Given the description of an element on the screen output the (x, y) to click on. 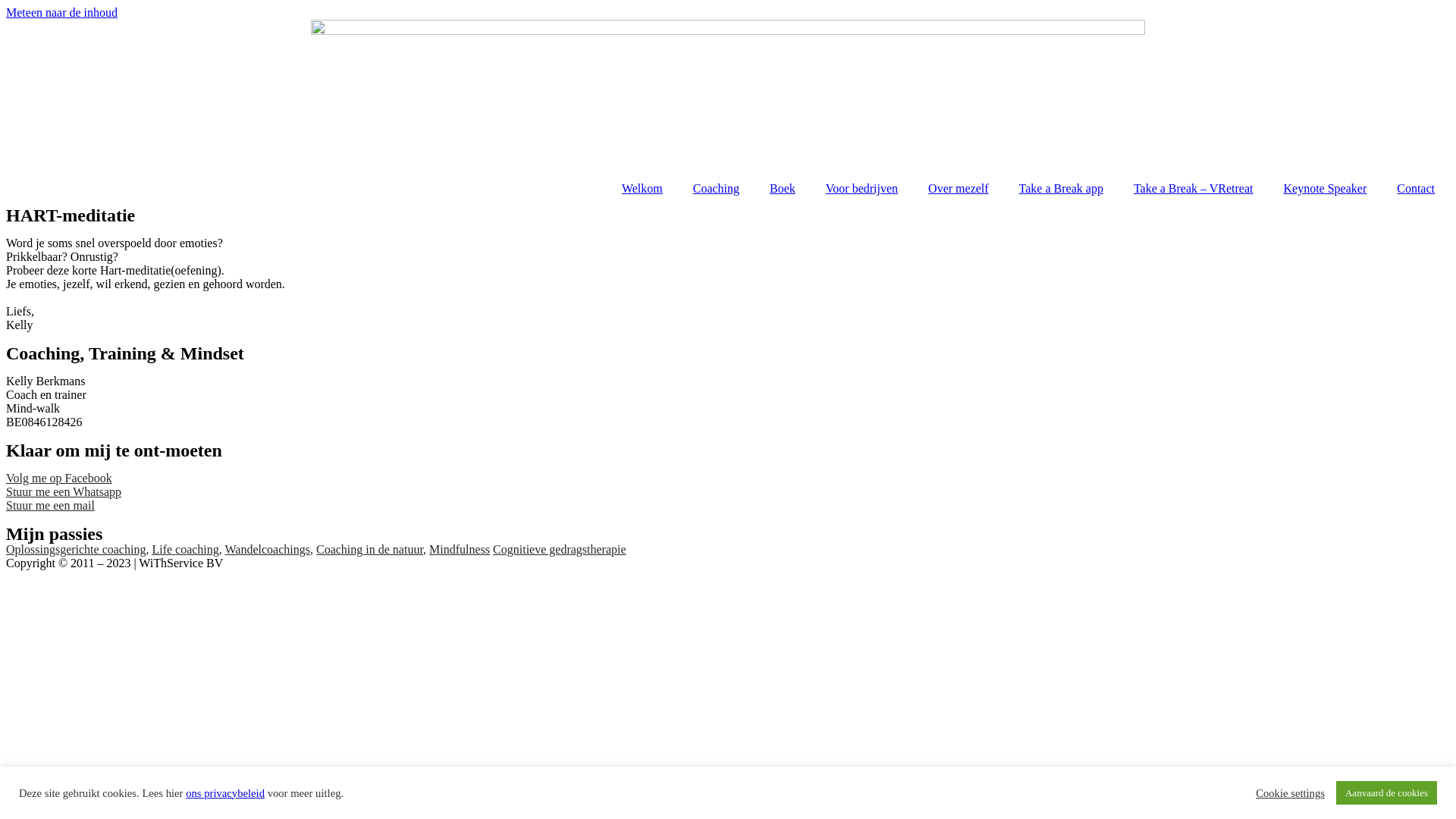
Boek Element type: text (782, 188)
Meteen naar de inhoud Element type: text (61, 12)
Life coaching Element type: text (184, 548)
Keynote Speaker Element type: text (1324, 188)
Wandelcoachings Element type: text (267, 548)
ons privacybeleid Element type: text (224, 793)
Coaching in de natuur Element type: text (369, 548)
Cookie settings Element type: text (1289, 792)
Cognitieve gedragstherapie Element type: text (559, 548)
Coaching Element type: text (715, 188)
Volg me op Facebook Element type: text (59, 477)
Mindfulness Element type: text (459, 548)
Stuur me een mail Element type: text (50, 504)
Oplossingsgerichte coaching Element type: text (75, 548)
Take a Break app Element type: text (1061, 188)
Stuur me een Whatsapp Element type: text (63, 491)
Over mezelf Element type: text (958, 188)
Contact Element type: text (1415, 188)
Welkom Element type: text (641, 188)
Aanvaard de cookies Element type: text (1386, 792)
Voor bedrijven Element type: text (861, 188)
